Given the description of an element on the screen output the (x, y) to click on. 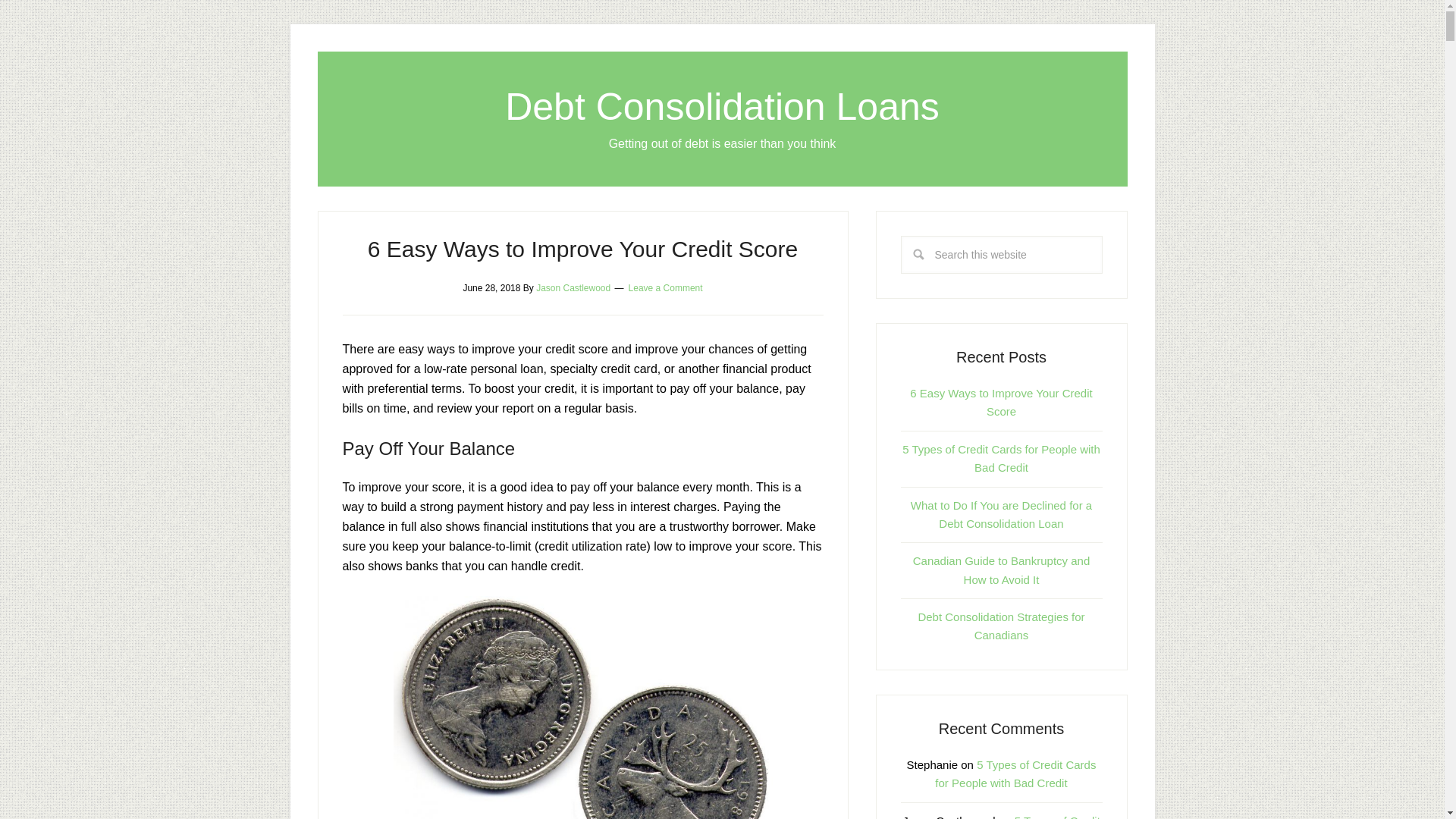
Debt Consolidation Loans (722, 106)
6 Easy Ways to Improve Your Credit Score (582, 248)
Jason Castlewood (572, 287)
Leave a Comment (665, 287)
